Given the description of an element on the screen output the (x, y) to click on. 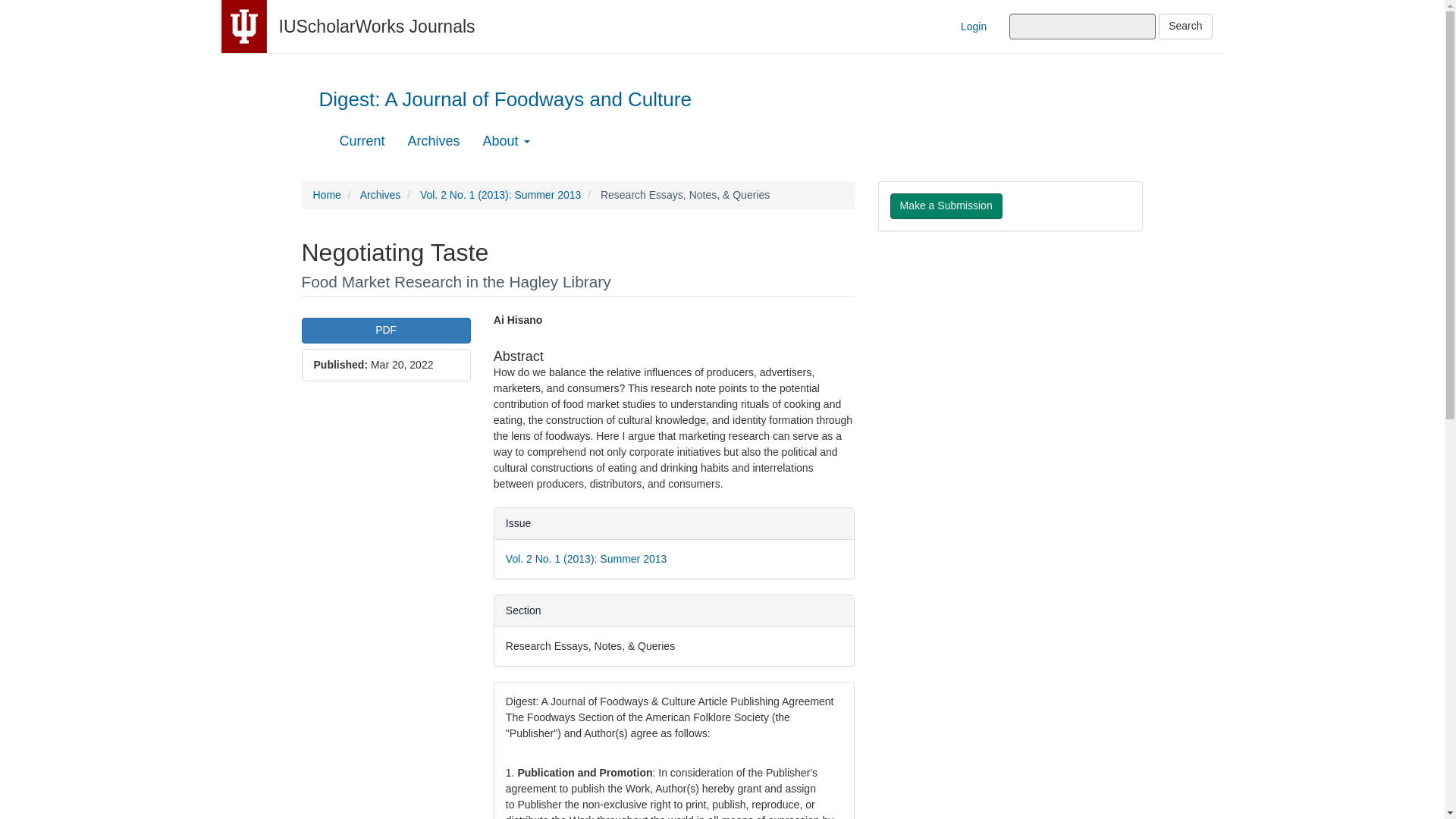
Archives (380, 194)
Home (326, 194)
Archives (433, 140)
Login (973, 25)
About (506, 140)
Make a Submission (946, 206)
IUScholarWorks Journals (377, 26)
Search (1184, 26)
Current (361, 140)
PDF (385, 330)
